Given the description of an element on the screen output the (x, y) to click on. 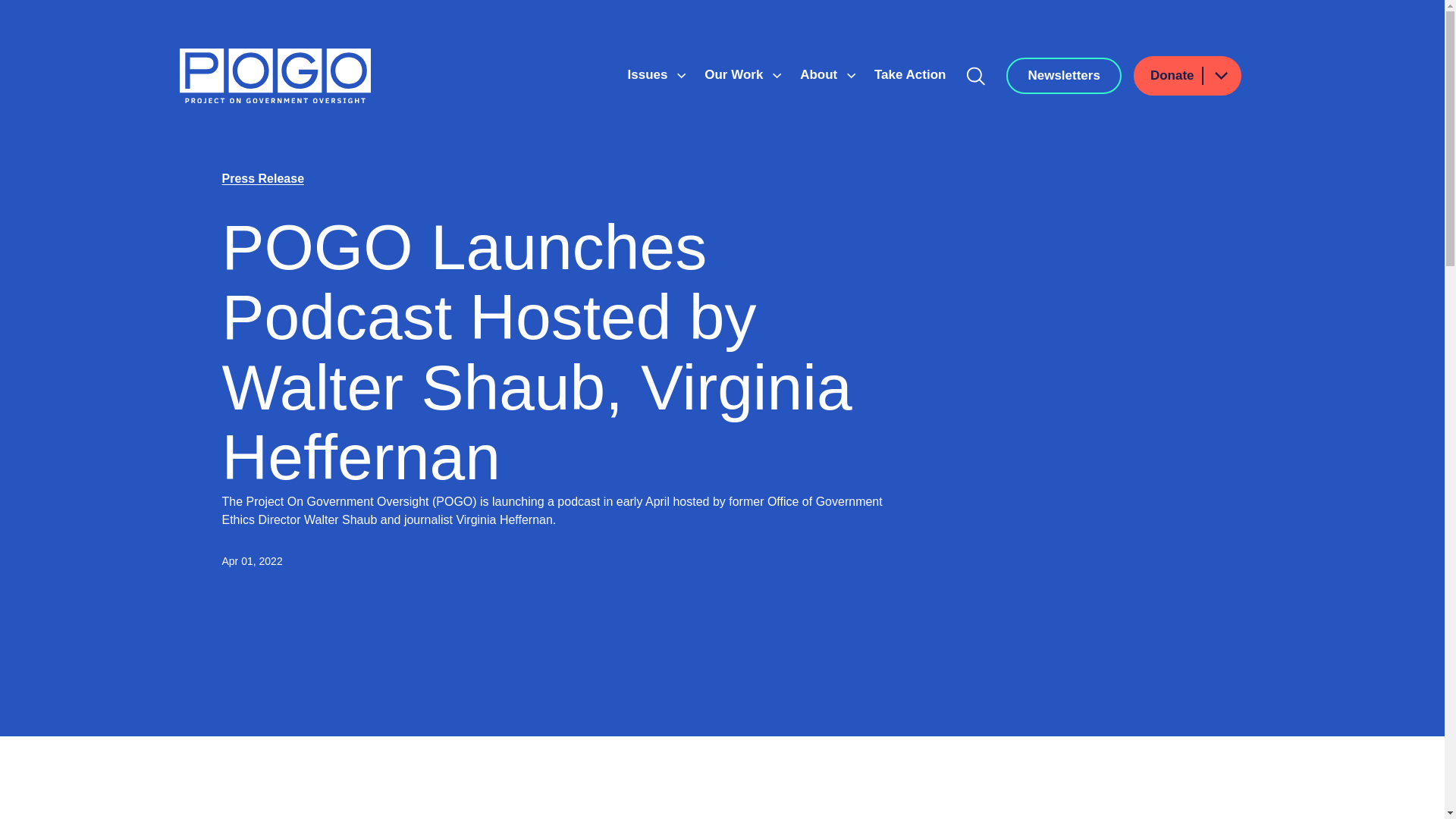
Take Action (909, 74)
Our Work (735, 74)
Show submenu for About (851, 75)
Issues (649, 74)
Newsletters (1063, 75)
Home (274, 75)
Search (976, 75)
About (820, 74)
Show submenu for Issues (681, 75)
Show submenu for Donate (1220, 75)
Donate (1187, 75)
Show submenu for Our Work (777, 75)
